Given the description of an element on the screen output the (x, y) to click on. 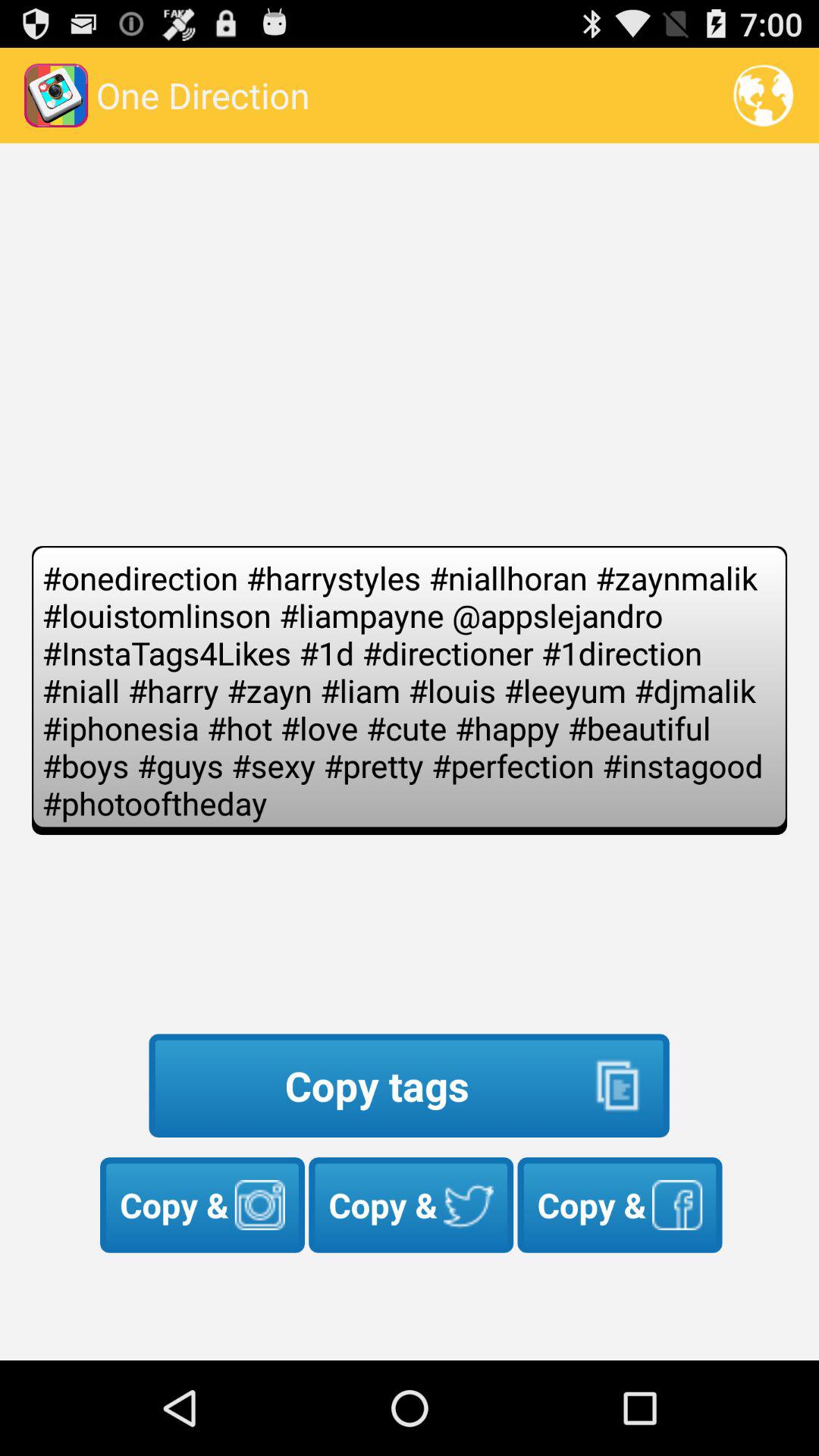
turn on the copy tags button (409, 1085)
